Given the description of an element on the screen output the (x, y) to click on. 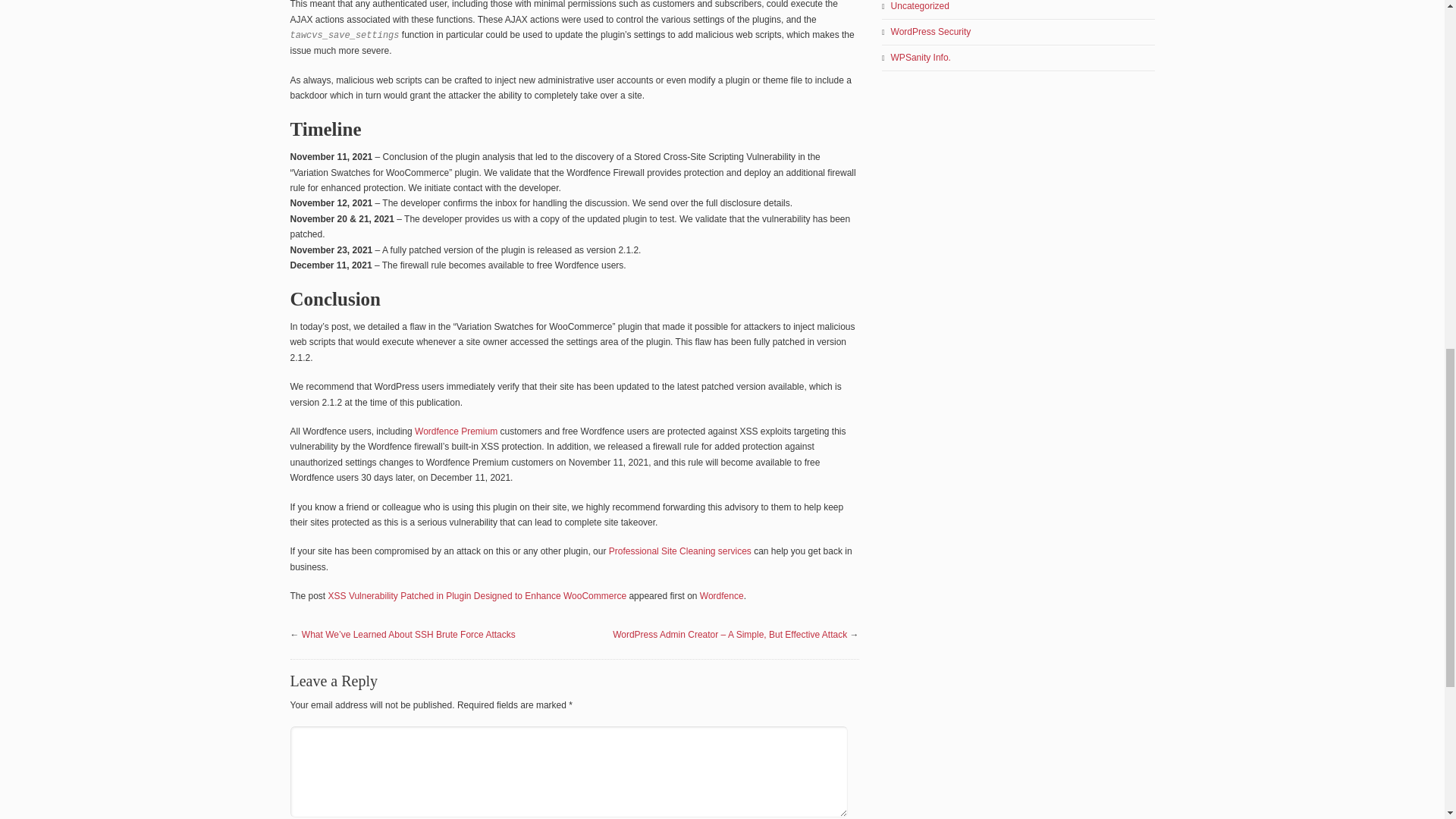
Wordfence (722, 595)
Professional Site Cleaning services (679, 551)
Wordfence Premium (455, 430)
